Given the description of an element on the screen output the (x, y) to click on. 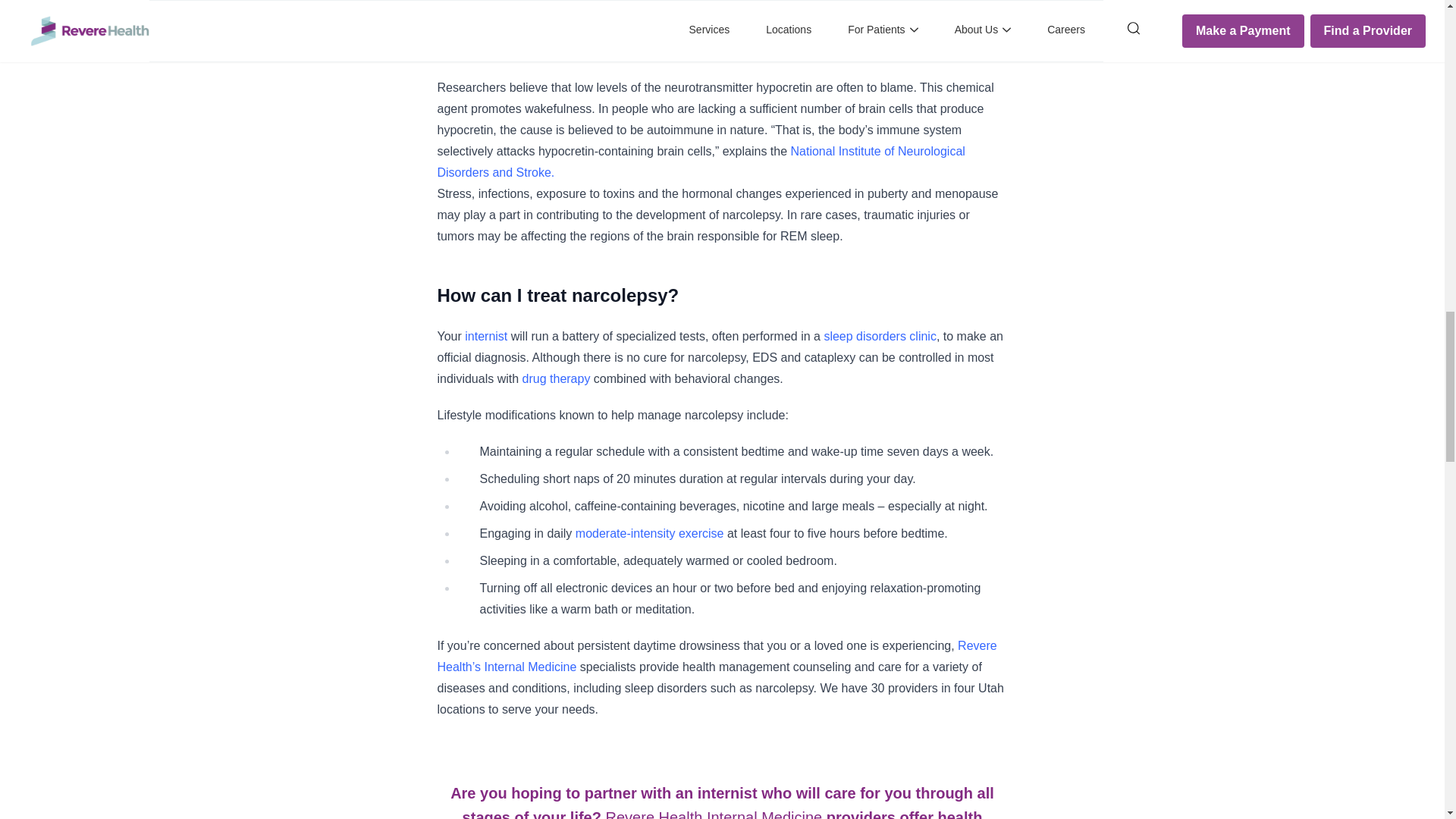
internist (483, 336)
sleep disorders clinic (880, 336)
moderate-intensity exercise (649, 533)
drug therapy (556, 378)
National Institute of Neurological Disorders and Stroke. (699, 161)
